Given the description of an element on the screen output the (x, y) to click on. 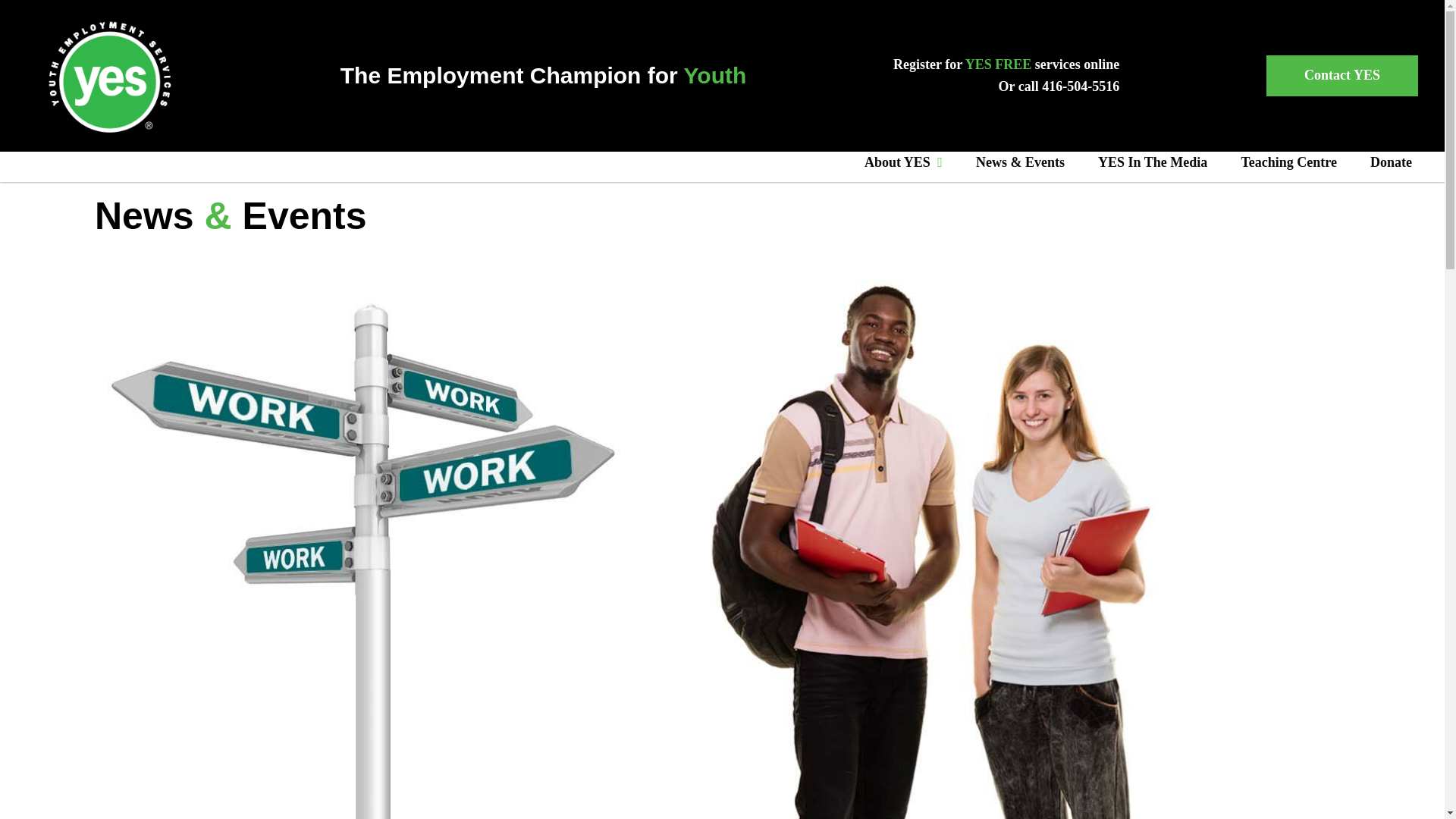
Contact YES (1342, 75)
